Given the description of an element on the screen output the (x, y) to click on. 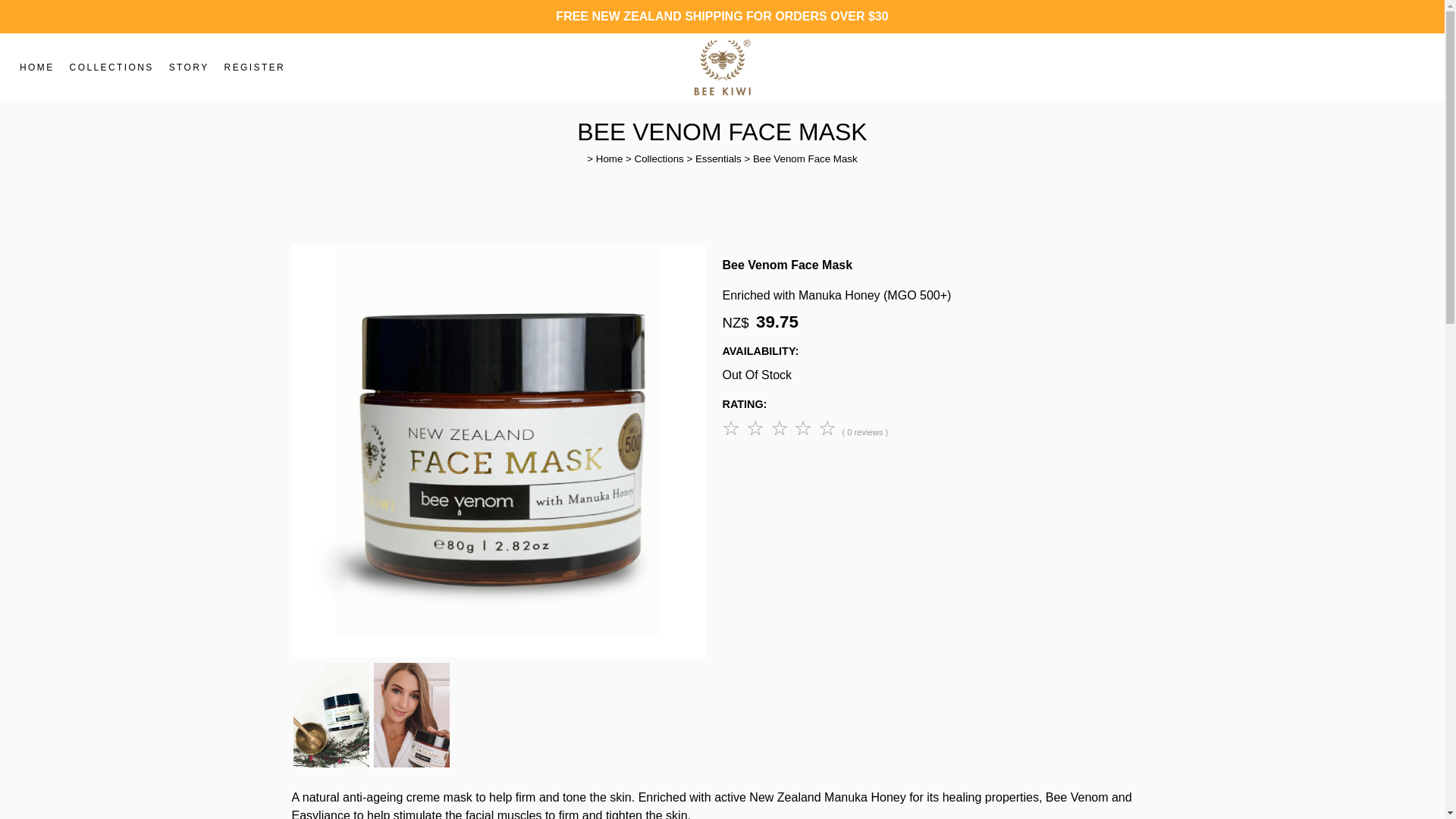
Bee Venom Face Mask (804, 158)
Bee Venom Face Mask (497, 653)
HOME (36, 67)
COLLECTIONS (111, 67)
Submit Product Review (781, 427)
STORY (188, 67)
Collections (659, 158)
REGISTER (255, 67)
Home (609, 158)
Essentials (718, 158)
